Given the description of an element on the screen output the (x, y) to click on. 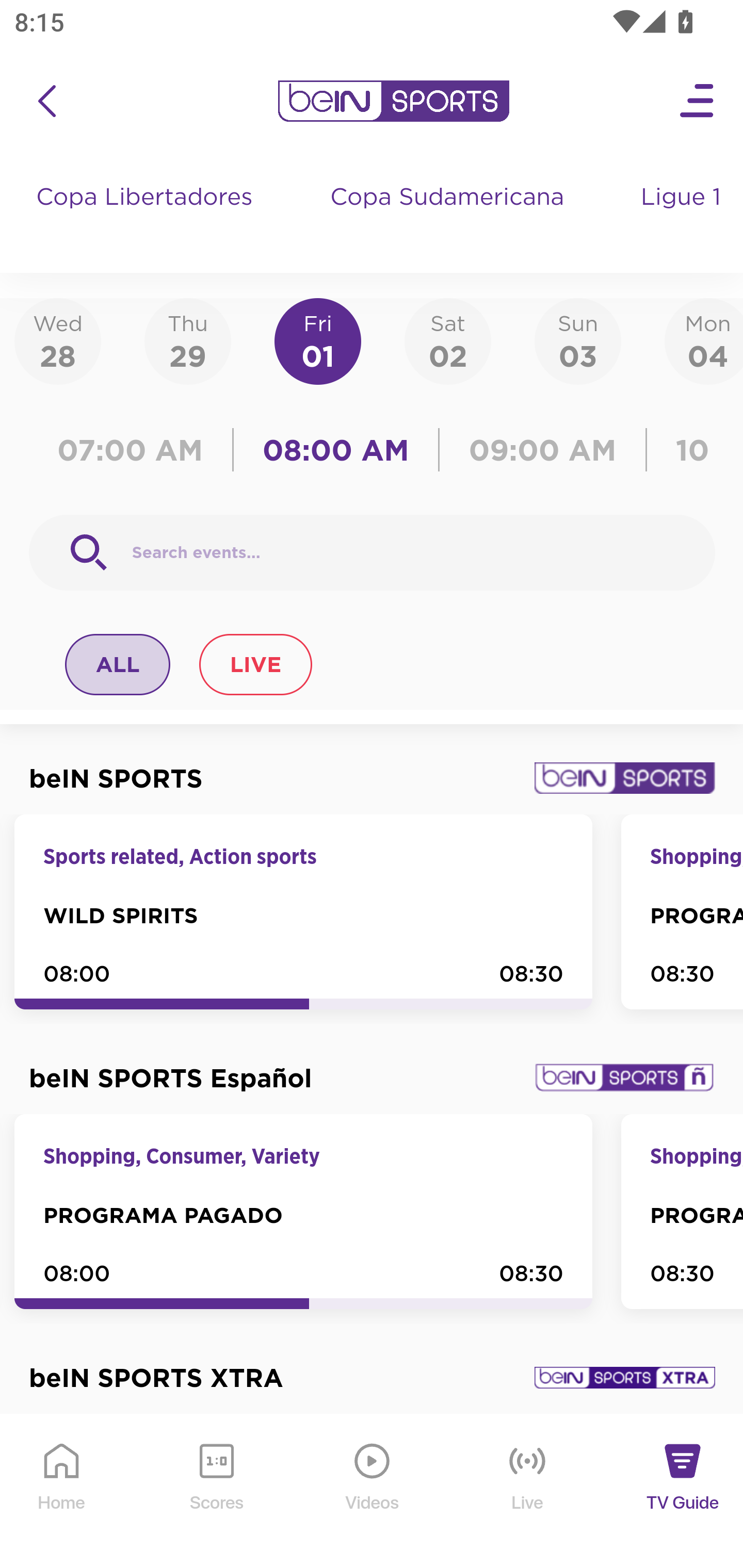
en-us?platform=mobile_android bein logo (392, 101)
icon back (46, 101)
Open Menu Icon (697, 101)
Copa Libertadores (146, 216)
Copa Sudamericana (448, 216)
Ligue 1 (682, 216)
Wed28 (58, 340)
Thu29 (187, 340)
Fri01 (318, 340)
Sat02 (447, 340)
Sun03 (578, 340)
Mon04 (703, 340)
07:00 AM (135, 449)
08:00 AM (336, 449)
09:00 AM (542, 449)
ALL (118, 663)
LIVE (255, 663)
Home Home Icon Home (61, 1491)
Scores Scores Icon Scores (216, 1491)
Videos Videos Icon Videos (372, 1491)
TV Guide TV Guide Icon TV Guide (682, 1491)
